Given the description of an element on the screen output the (x, y) to click on. 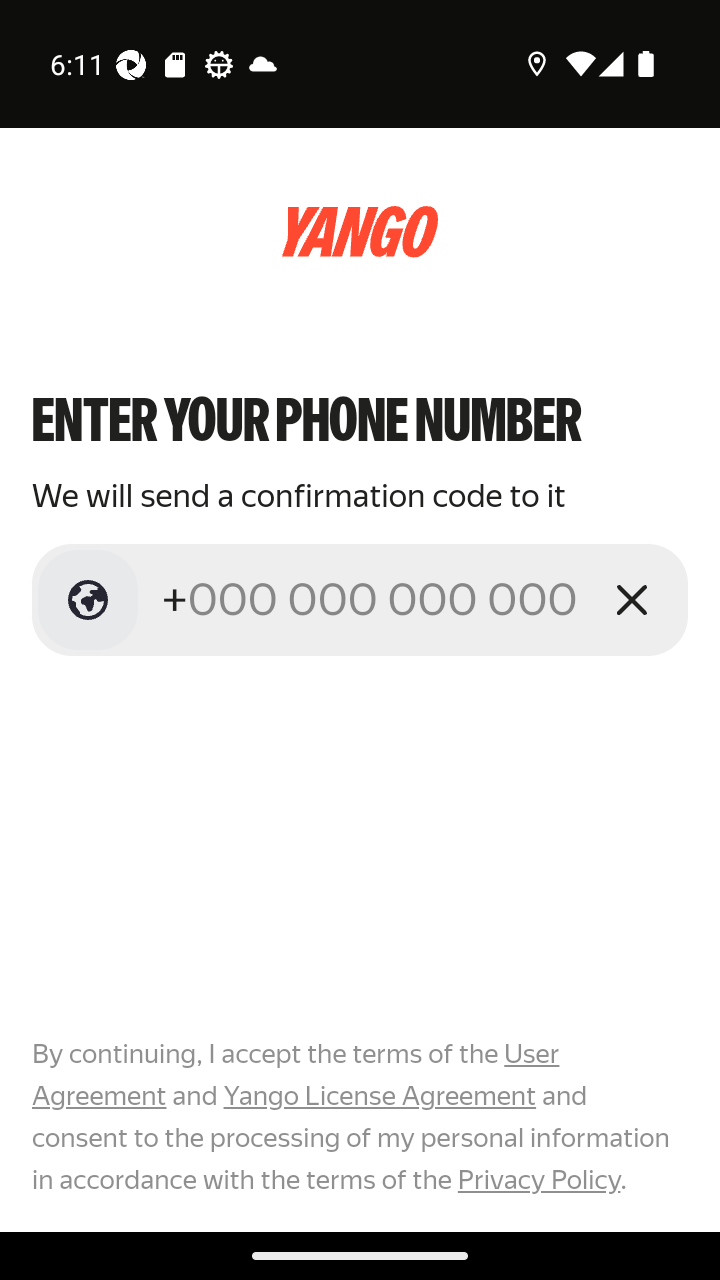
logo (359, 231)
  (88, 600)
+ (372, 599)
User Agreement (295, 1075)
Yango License Agreement (379, 1096)
Privacy Policy (538, 1179)
